Given the description of an element on the screen output the (x, y) to click on. 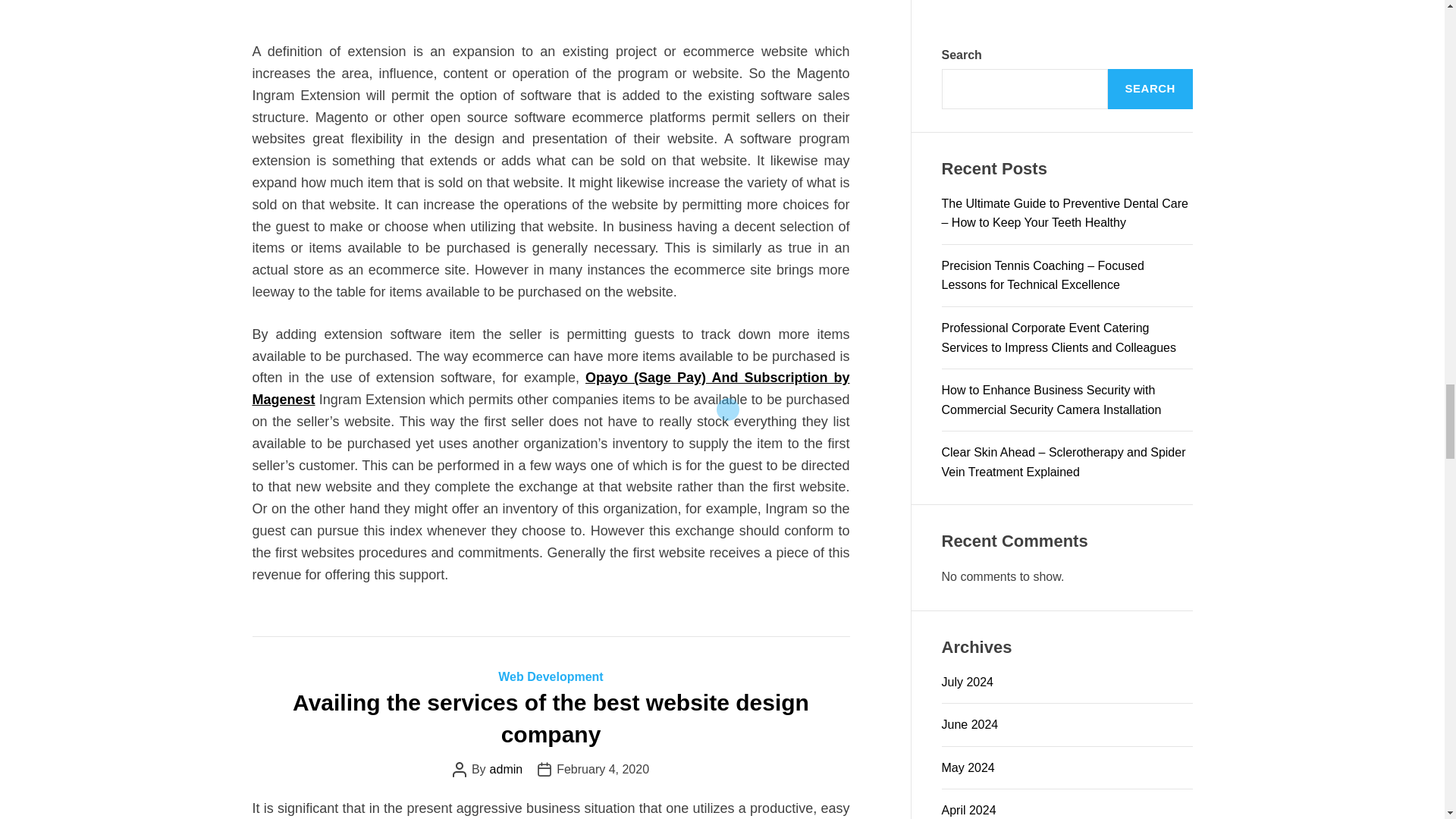
Web Development (549, 676)
Availing the services of the best website design company (550, 718)
admin (505, 769)
